Given the description of an element on the screen output the (x, y) to click on. 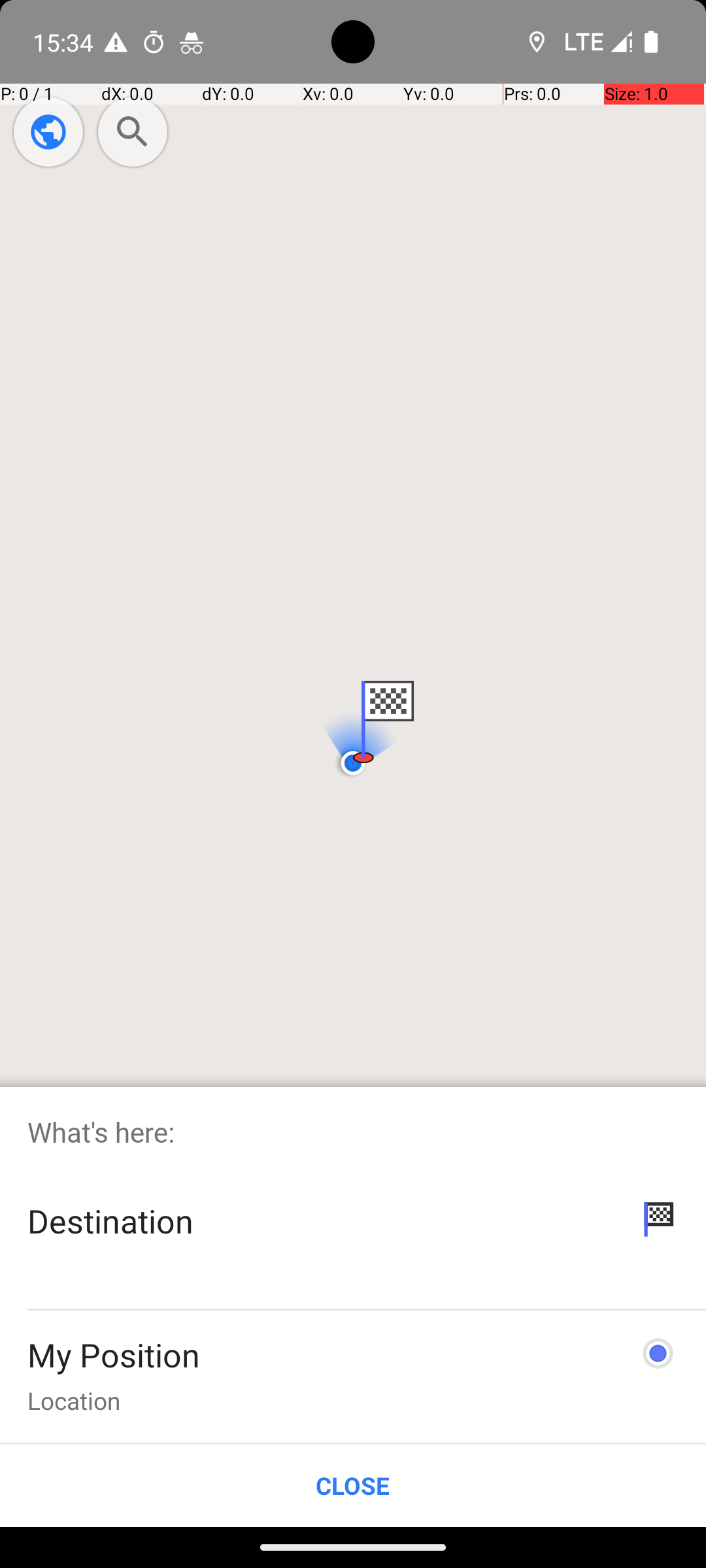
CLOSE Element type: android.widget.TextView (352, 1485)
What's here: Element type: android.widget.TextView (352, 1131)
Destination  Element type: android.widget.TextView (114, 1220)
My Position Element type: android.widget.TextView (113, 1354)
Location Element type: android.widget.TextView (73, 1400)
